Given the description of an element on the screen output the (x, y) to click on. 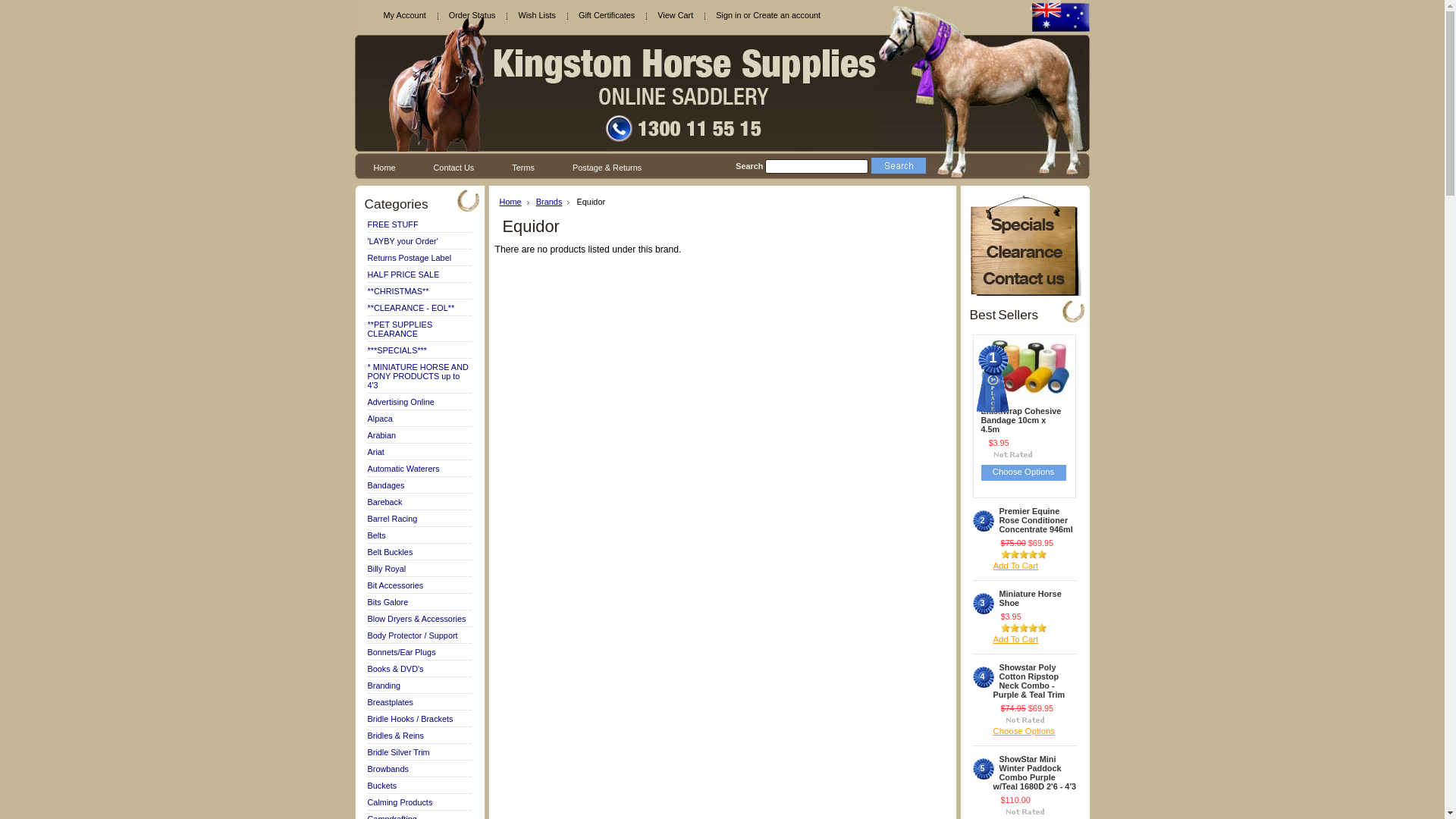
Billy Royal Element type: text (386, 568)
HALF PRICE SALE Element type: text (403, 274)
Bareback Element type: text (384, 501)
Alpaca Element type: text (379, 418)
'LAYBY your Order' Element type: text (402, 240)
Home Element type: text (513, 201)
Bridles & Reins Element type: text (395, 735)
Advertising Online Element type: text (400, 401)
**CHRISTMAS** Element type: text (397, 290)
FREE STUFF Element type: text (392, 224)
Create an account Element type: text (786, 14)
Home Element type: text (384, 166)
Bits Galore Element type: text (387, 601)
Bridle Hooks / Brackets Element type: text (409, 718)
Elastiwrap Cohesive Bandage 10cm x 4.5m Element type: text (1022, 421)
Order Status Element type: text (472, 14)
Browbands Element type: text (387, 768)
Belt Buckles Element type: text (389, 551)
Bonnets/Ear Plugs Element type: text (401, 651)
My Account Element type: text (403, 14)
Bit Accessories Element type: text (395, 584)
***SPECIALS*** Element type: text (396, 349)
Sign in Element type: text (727, 14)
Books & DVD's Element type: text (395, 668)
Miniature Horse Shoe Element type: text (1034, 599)
Bandages Element type: text (385, 484)
Ariat Element type: text (375, 451)
Arabian Element type: text (381, 434)
Belts Element type: text (376, 534)
Returns Postage Label Element type: text (409, 257)
Add To Cart Element type: text (1034, 566)
Gift Certificates Element type: text (606, 14)
**CLEARANCE - EOL** Element type: text (410, 307)
Premier Equine Rose Conditioner Concentrate 946ml Element type: text (1034, 521)
Postage & Returns Element type: text (606, 166)
Brands Element type: text (553, 201)
**PET SUPPLIES CLEARANCE Element type: text (399, 329)
Buckets Element type: text (381, 785)
* MINIATURE HORSE AND PONY PRODUCTS up to 4'3 Element type: text (417, 375)
Branding Element type: text (383, 685)
Terms Element type: text (523, 166)
Add To Cart Element type: text (1034, 640)
Breastplates Element type: text (389, 701)
Choose Options Element type: text (1034, 731)
Body Protector / Support Element type: text (412, 635)
View Cart Element type: text (675, 14)
Choose Options Element type: text (1023, 472)
Showstar Poly Cotton Ripstop Neck Combo - Purple & Teal Trim Element type: text (1034, 681)
Wish Lists Element type: text (536, 14)
Bridle Silver Trim Element type: text (398, 751)
Calming Products Element type: text (399, 801)
Barrel Racing Element type: text (392, 518)
Automatic Waterers Element type: text (403, 468)
Blow Dryers & Accessories Element type: text (416, 618)
Contact Us Element type: text (454, 166)
